Given the description of an element on the screen output the (x, y) to click on. 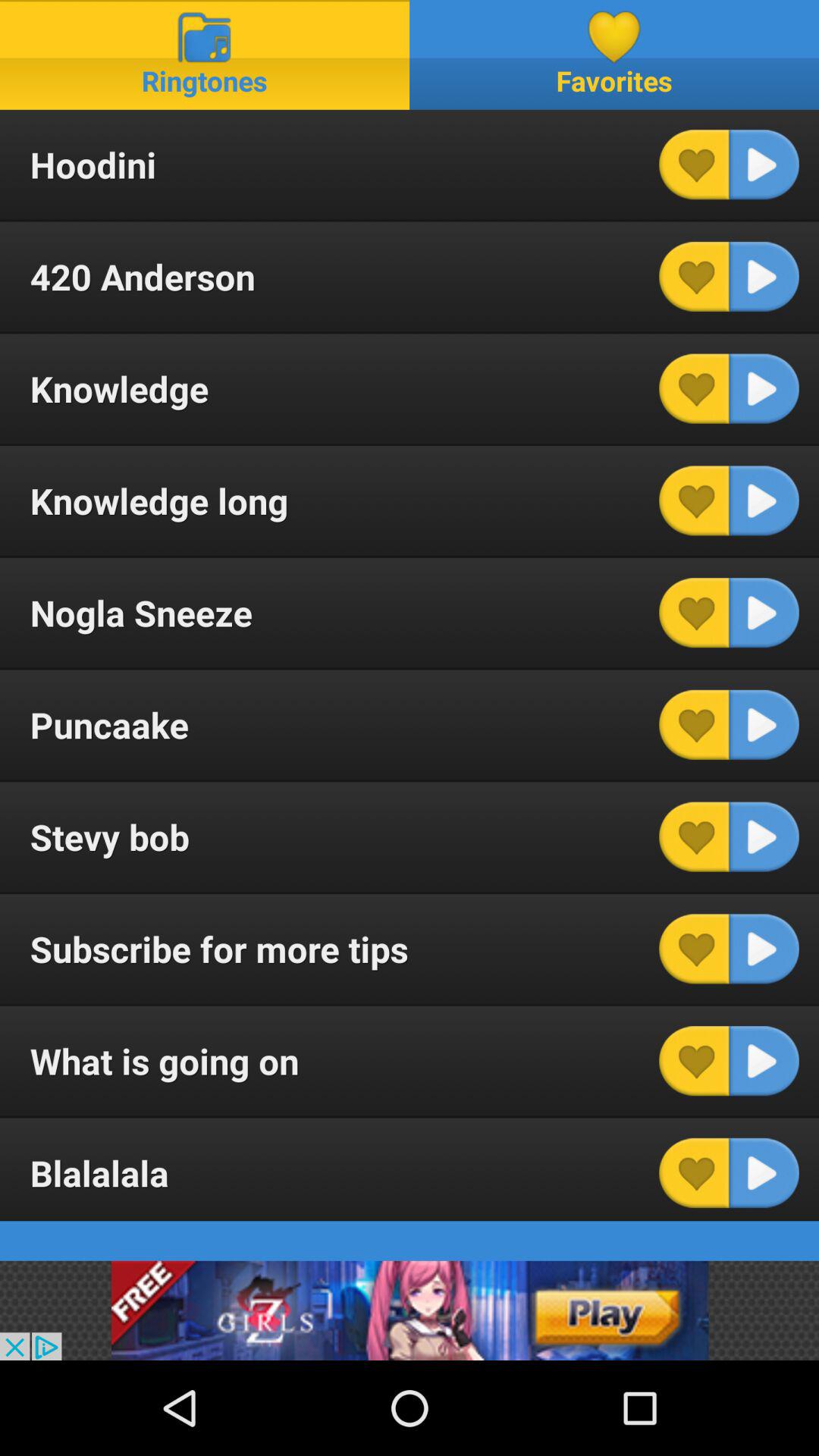
play ringtone (764, 836)
